Given the description of an element on the screen output the (x, y) to click on. 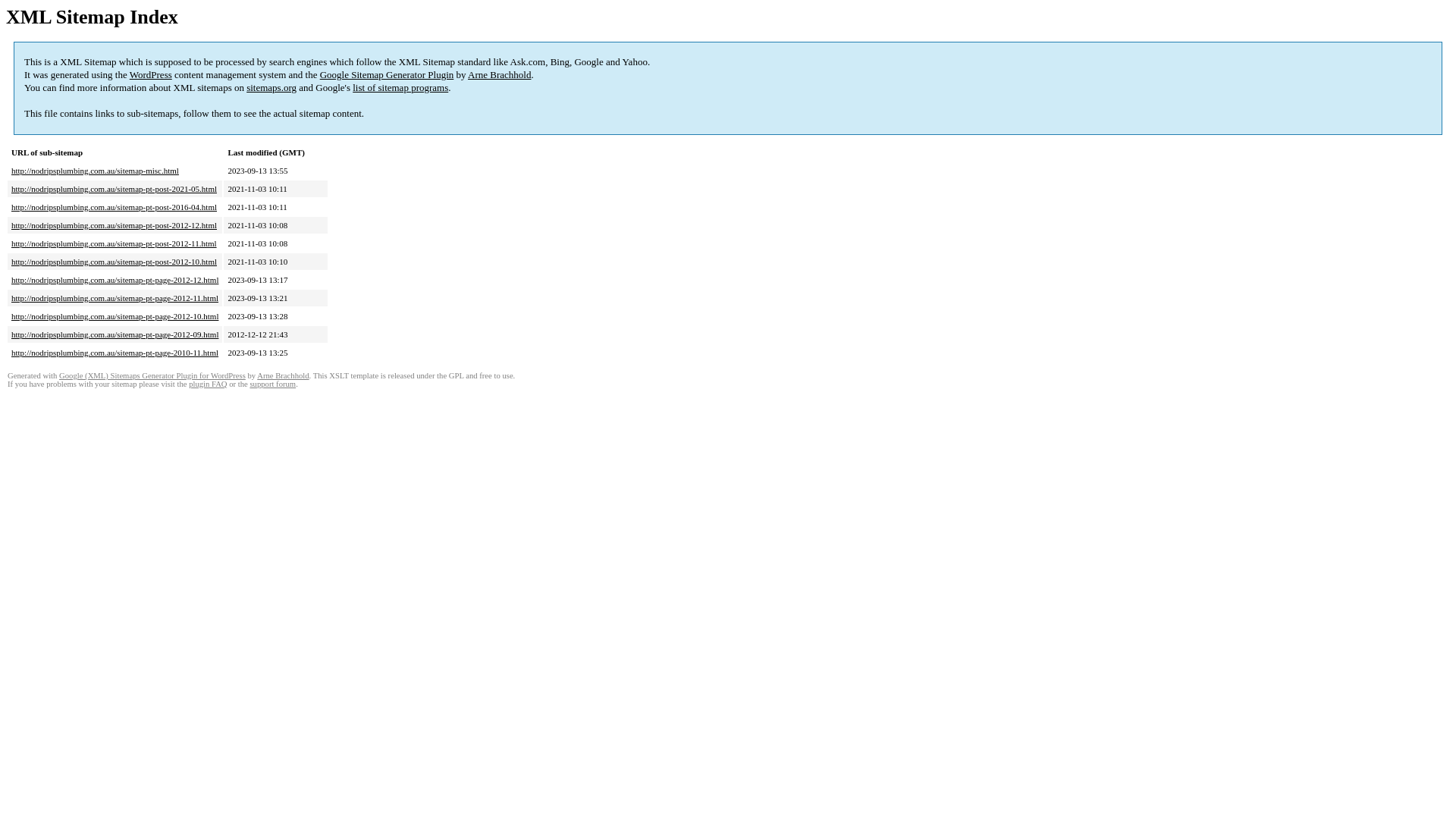
http://nodripsplumbing.com.au/sitemap-pt-post-2021-05.html Element type: text (113, 188)
Google (XML) Sitemaps Generator Plugin for WordPress Element type: text (152, 375)
list of sitemap programs Element type: text (400, 87)
http://nodripsplumbing.com.au/sitemap-pt-page-2010-11.html Element type: text (114, 352)
WordPress Element type: text (150, 74)
http://nodripsplumbing.com.au/sitemap-misc.html Element type: text (94, 170)
http://nodripsplumbing.com.au/sitemap-pt-page-2012-12.html Element type: text (114, 279)
http://nodripsplumbing.com.au/sitemap-pt-post-2016-04.html Element type: text (113, 206)
http://nodripsplumbing.com.au/sitemap-pt-post-2012-12.html Element type: text (113, 224)
Arne Brachhold Element type: text (498, 74)
plugin FAQ Element type: text (207, 383)
Google Sitemap Generator Plugin Element type: text (387, 74)
http://nodripsplumbing.com.au/sitemap-pt-page-2012-09.html Element type: text (114, 333)
support forum Element type: text (272, 383)
http://nodripsplumbing.com.au/sitemap-pt-post-2012-11.html Element type: text (113, 242)
http://nodripsplumbing.com.au/sitemap-pt-post-2012-10.html Element type: text (113, 261)
Arne Brachhold Element type: text (282, 375)
http://nodripsplumbing.com.au/sitemap-pt-page-2012-10.html Element type: text (114, 315)
sitemaps.org Element type: text (271, 87)
http://nodripsplumbing.com.au/sitemap-pt-page-2012-11.html Element type: text (114, 297)
